Given the description of an element on the screen output the (x, y) to click on. 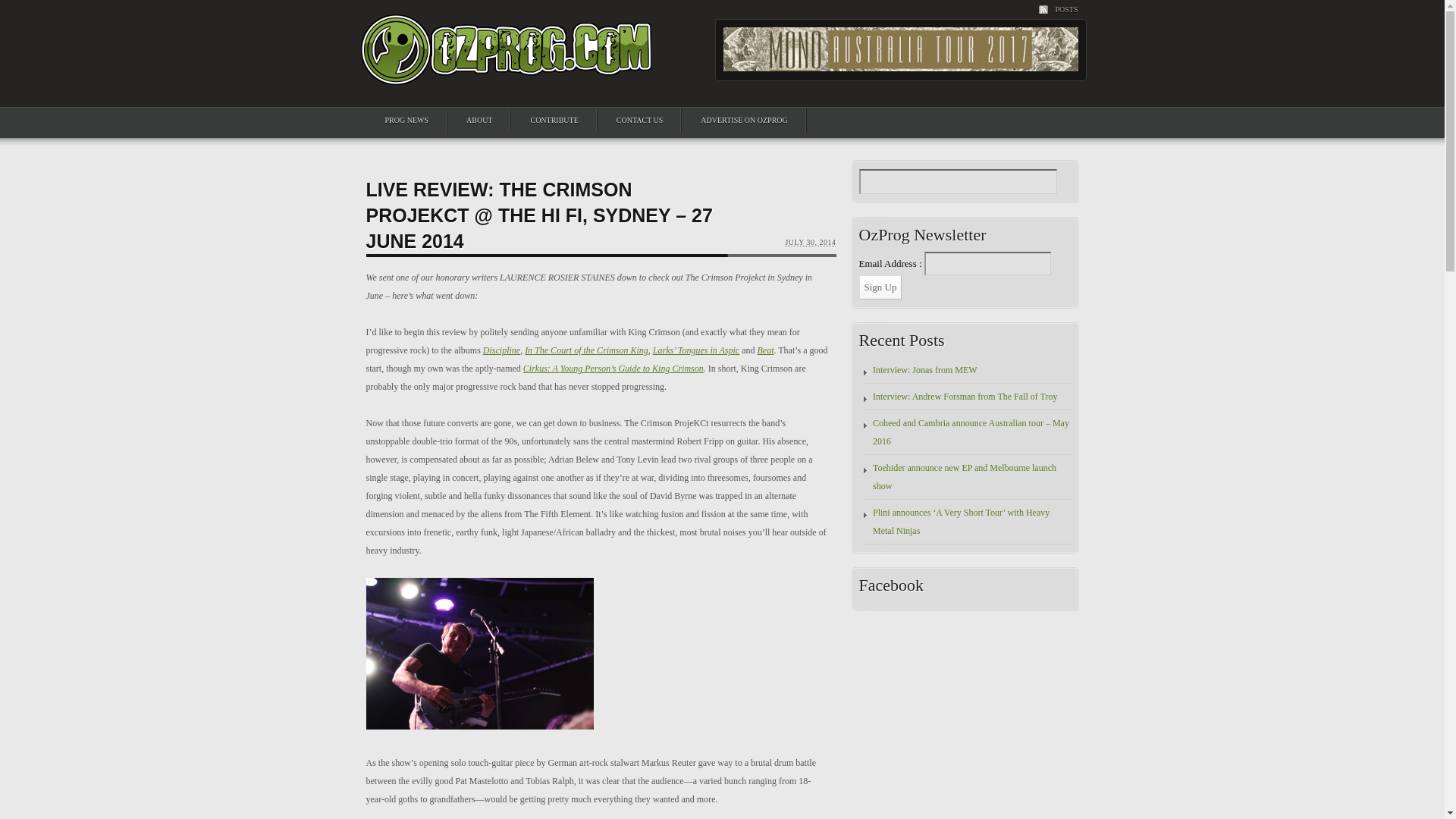
OzProg (505, 48)
PROG NEWS (405, 119)
OzProg (505, 74)
CONTRIBUTE (553, 119)
POSTS (1058, 8)
Discipline (501, 349)
Sign Up (880, 287)
Toehider announce new EP and Melbourne launch show (964, 476)
Beat (765, 349)
ABOUT (478, 119)
Sign Up (880, 287)
Interview: Andrew Forsman from The Fall of Troy (964, 396)
12:19 pm (809, 242)
CONTACT US (639, 119)
Interview: Jonas from MEW (924, 369)
